Given the description of an element on the screen output the (x, y) to click on. 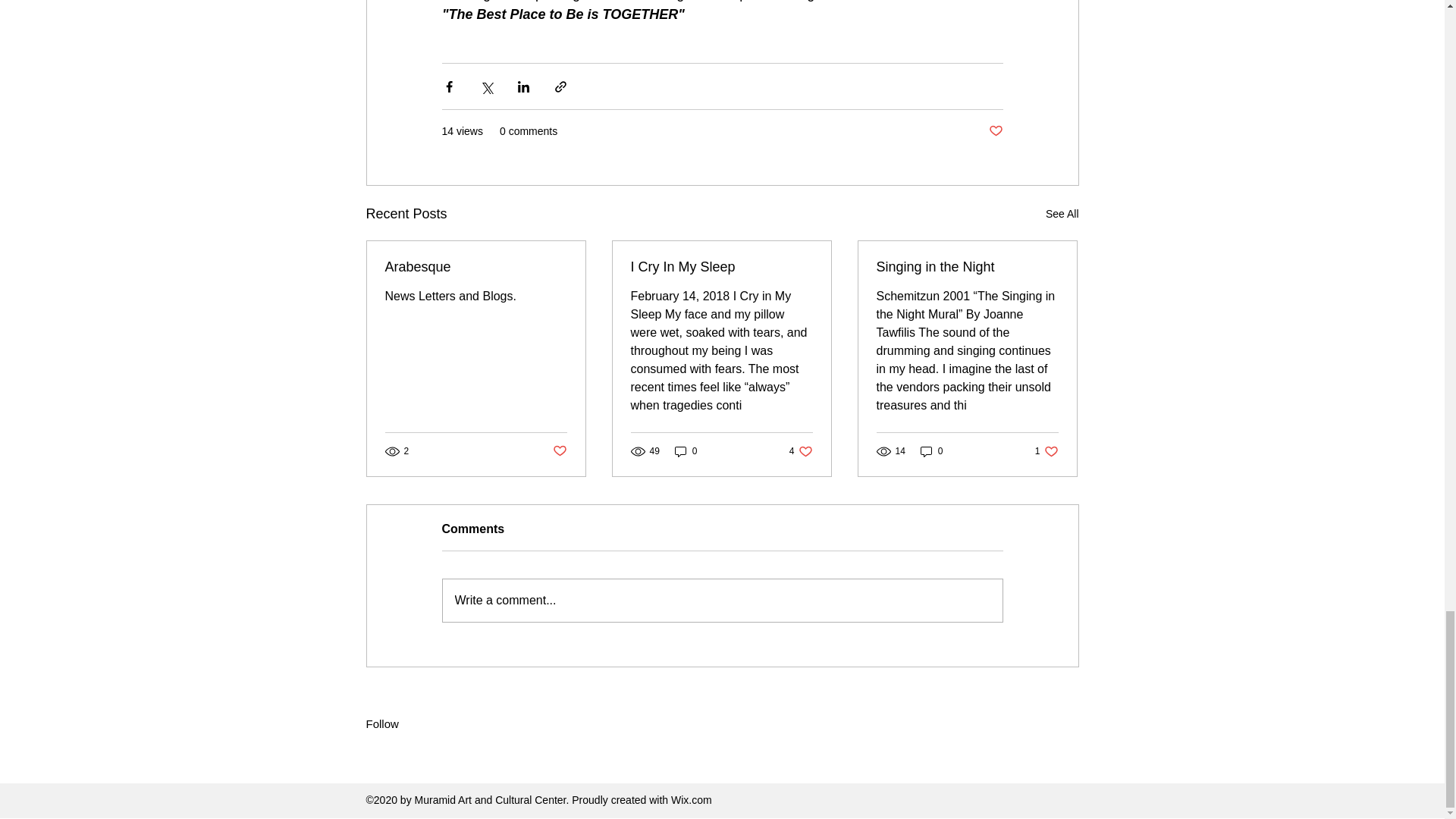
Arabesque (476, 267)
0 (800, 451)
0 (931, 451)
Write a comment... (685, 451)
Singing in the Night (722, 600)
Post not marked as liked (967, 267)
See All (995, 131)
Post not marked as liked (1061, 214)
I Cry In My Sleep (1046, 451)
